Given the description of an element on the screen output the (x, y) to click on. 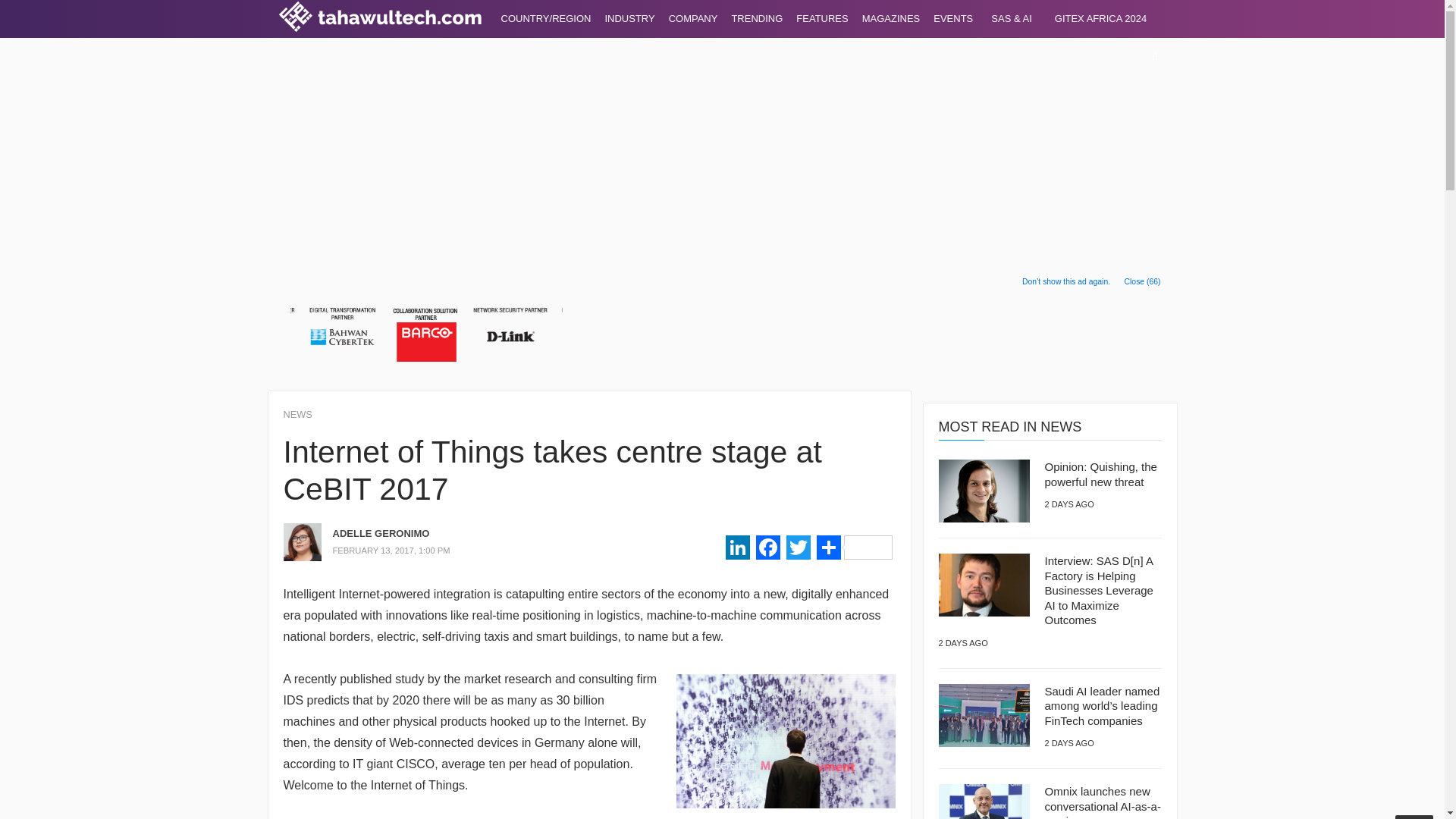
View all posts by Adelle Geronimo (433, 533)
D-Link (257, 334)
LinkedIn (737, 549)
Facebook (767, 549)
Don't show this add again (1065, 281)
3rd party ad content (878, 329)
Bahwan CyberTek (595, 334)
Barco (426, 334)
Bahwan CyberTek (341, 334)
D-Link (510, 334)
